Given the description of an element on the screen output the (x, y) to click on. 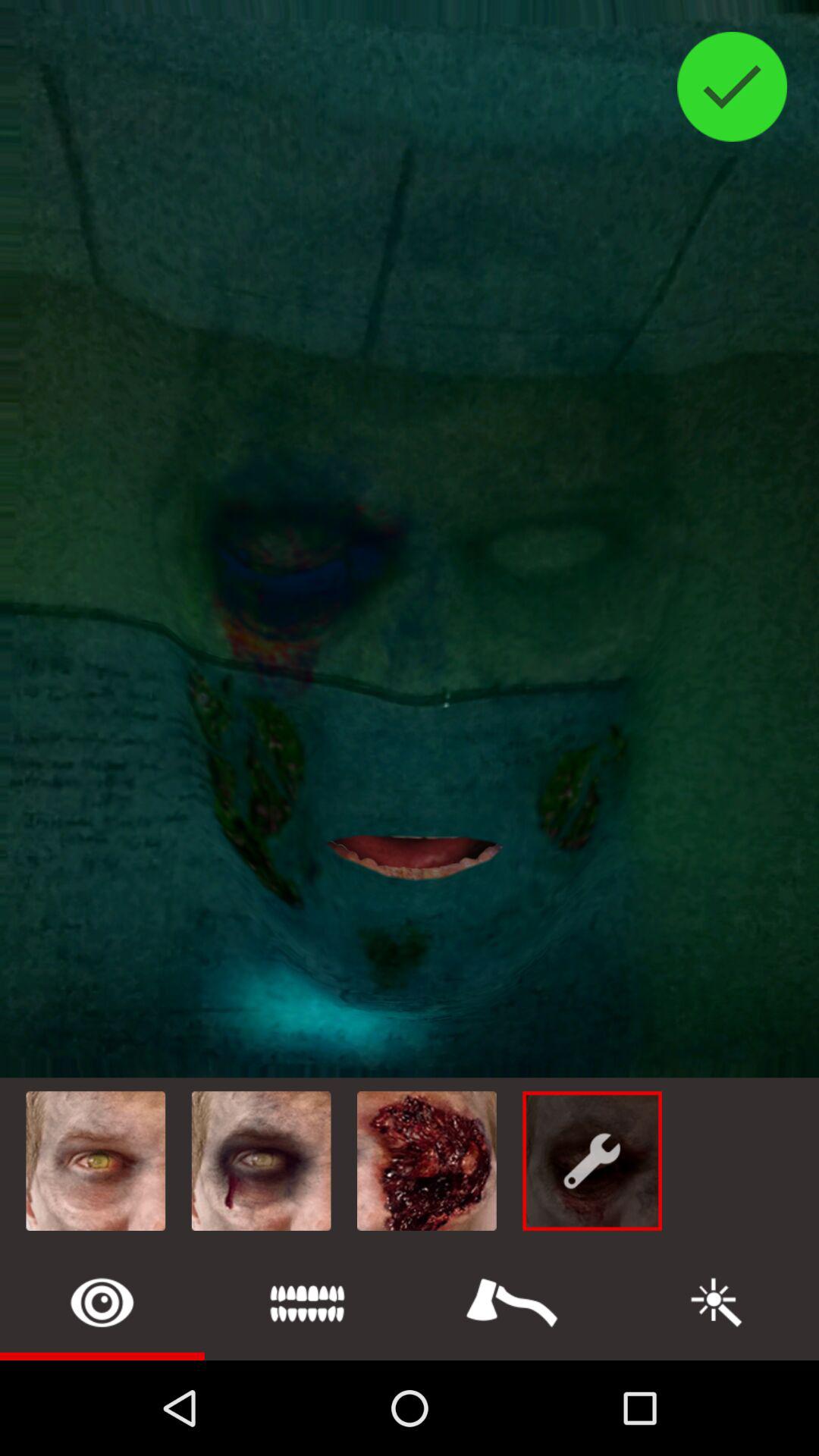
confirm selections (732, 86)
